Given the description of an element on the screen output the (x, y) to click on. 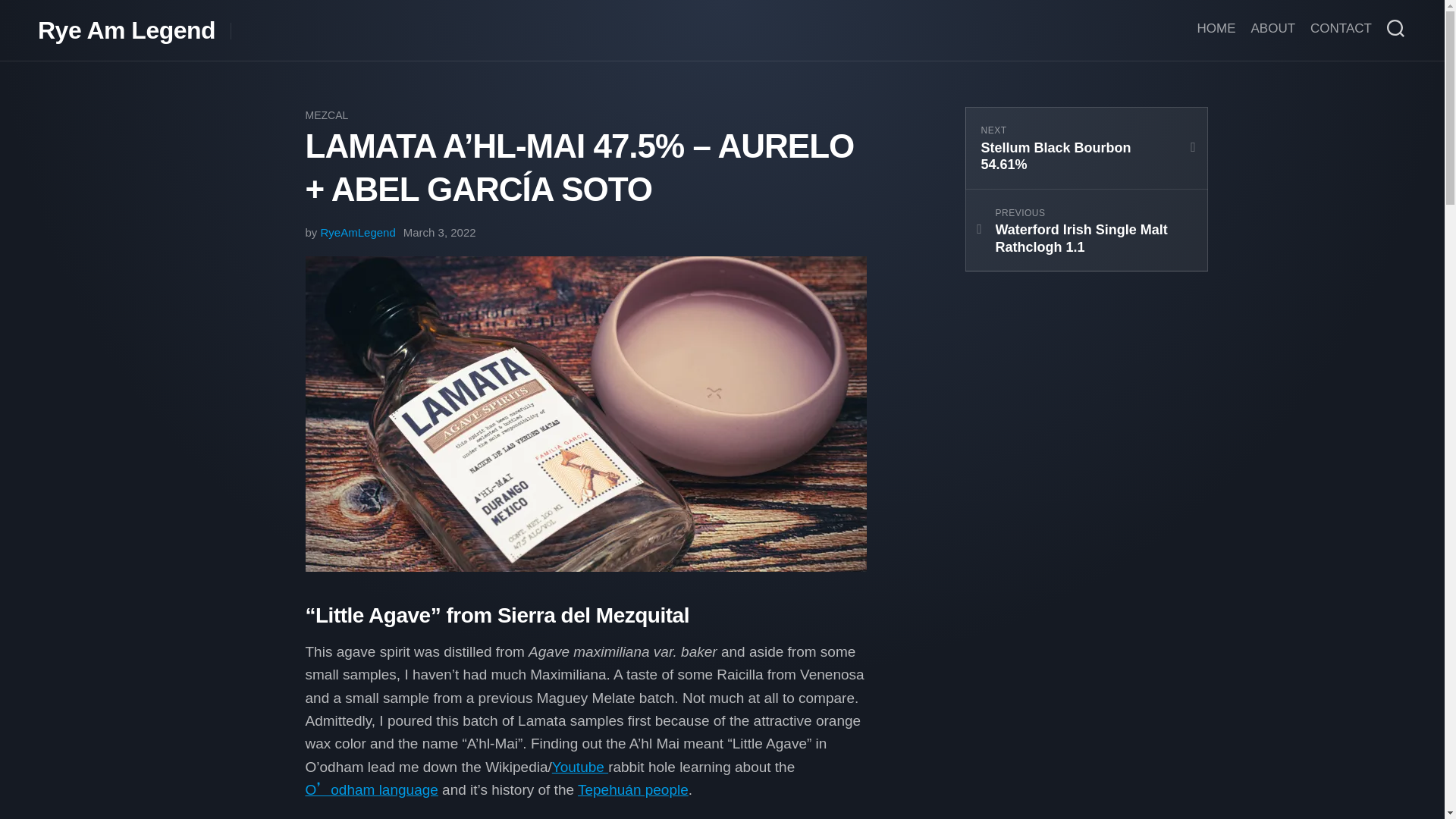
MEZCAL (325, 114)
Rye Am Legend (126, 30)
HOME (1085, 230)
RyeAmLegend (1216, 28)
Youtube (358, 232)
Posts by RyeAmLegend (579, 766)
CONTACT (358, 232)
ABOUT (1340, 28)
